Given the description of an element on the screen output the (x, y) to click on. 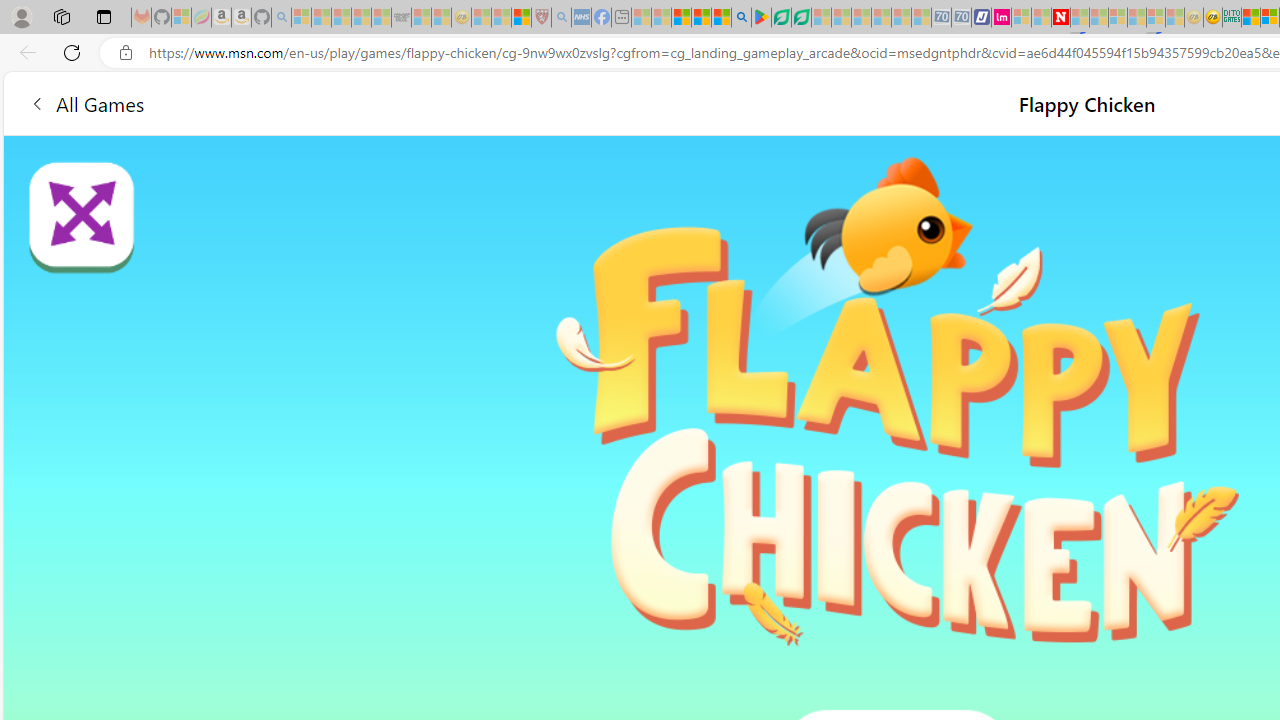
All Games (380, 102)
Bluey: Let's Play! - Apps on Google Play (760, 17)
